Given the description of an element on the screen output the (x, y) to click on. 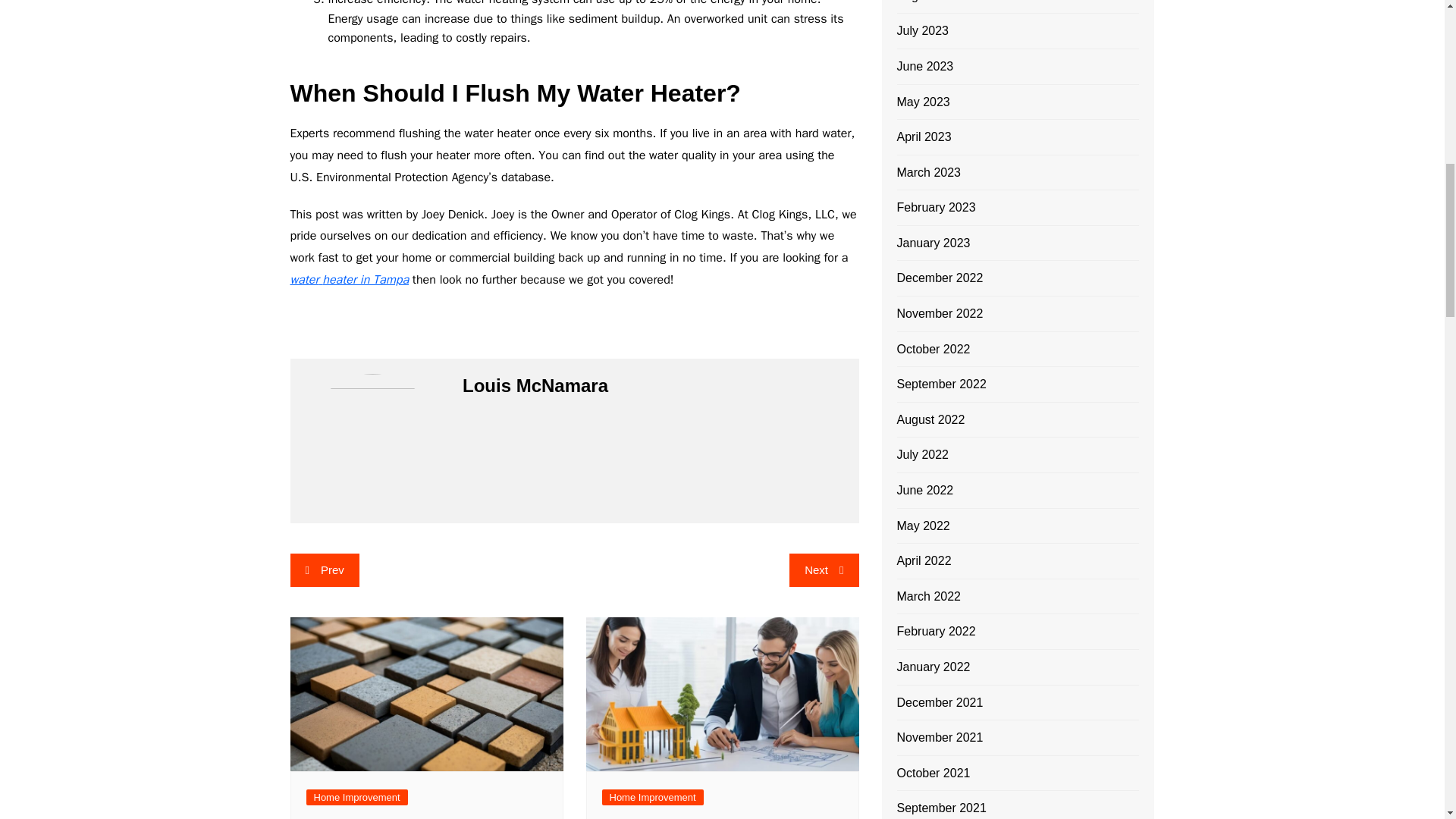
water heater in Tampa (349, 279)
Prev (323, 570)
Home Improvement (356, 797)
Next (824, 570)
Home Improvement (652, 797)
